Given the description of an element on the screen output the (x, y) to click on. 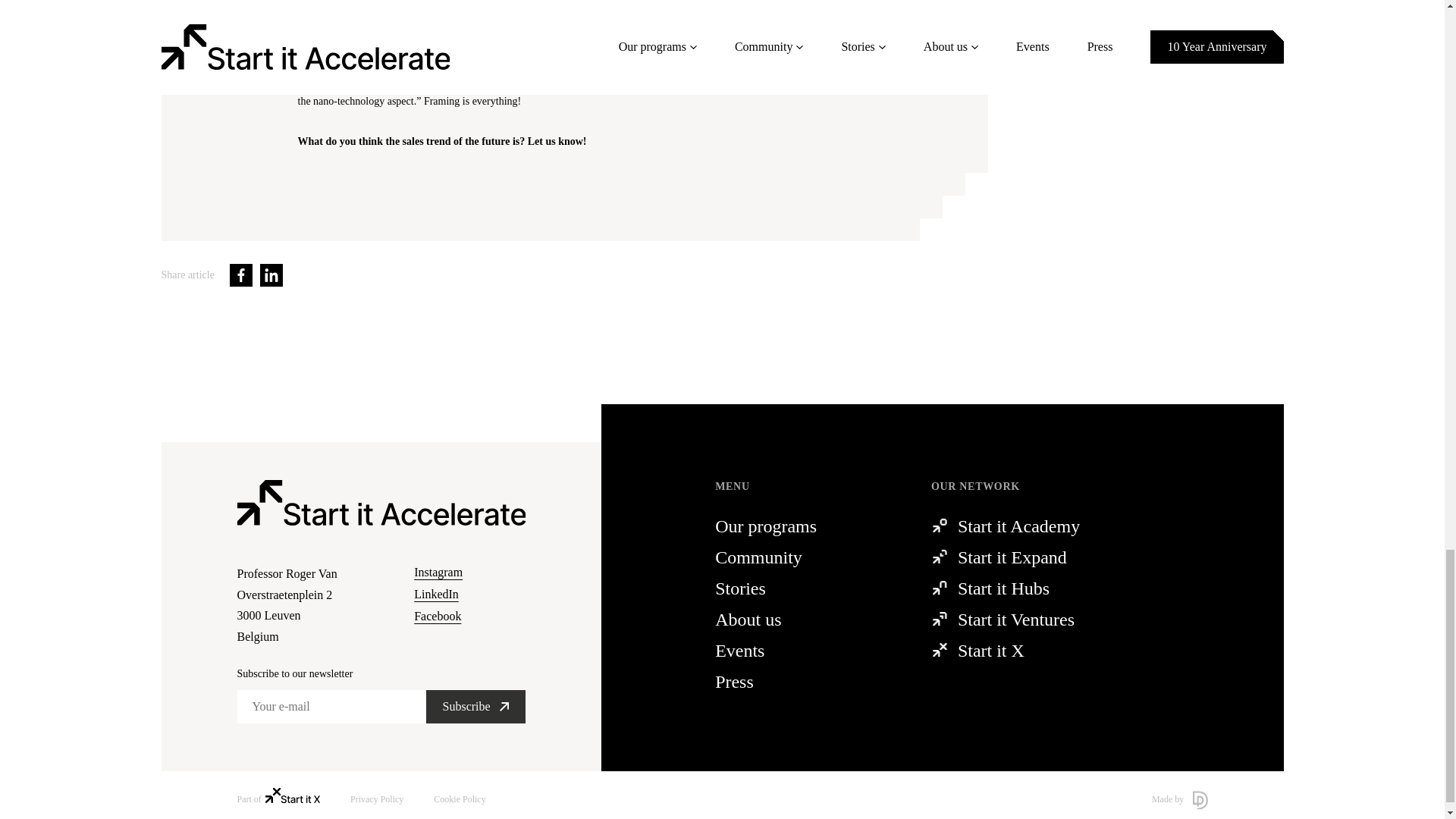
Instagram (469, 572)
Community (794, 556)
Subscribe (475, 706)
Facebook (469, 616)
Our programs (305, 605)
LinkedIn (794, 525)
Facebook (271, 274)
Elegnano (240, 274)
LinkedIn (657, 33)
About us (469, 594)
Stories (794, 619)
